Given the description of an element on the screen output the (x, y) to click on. 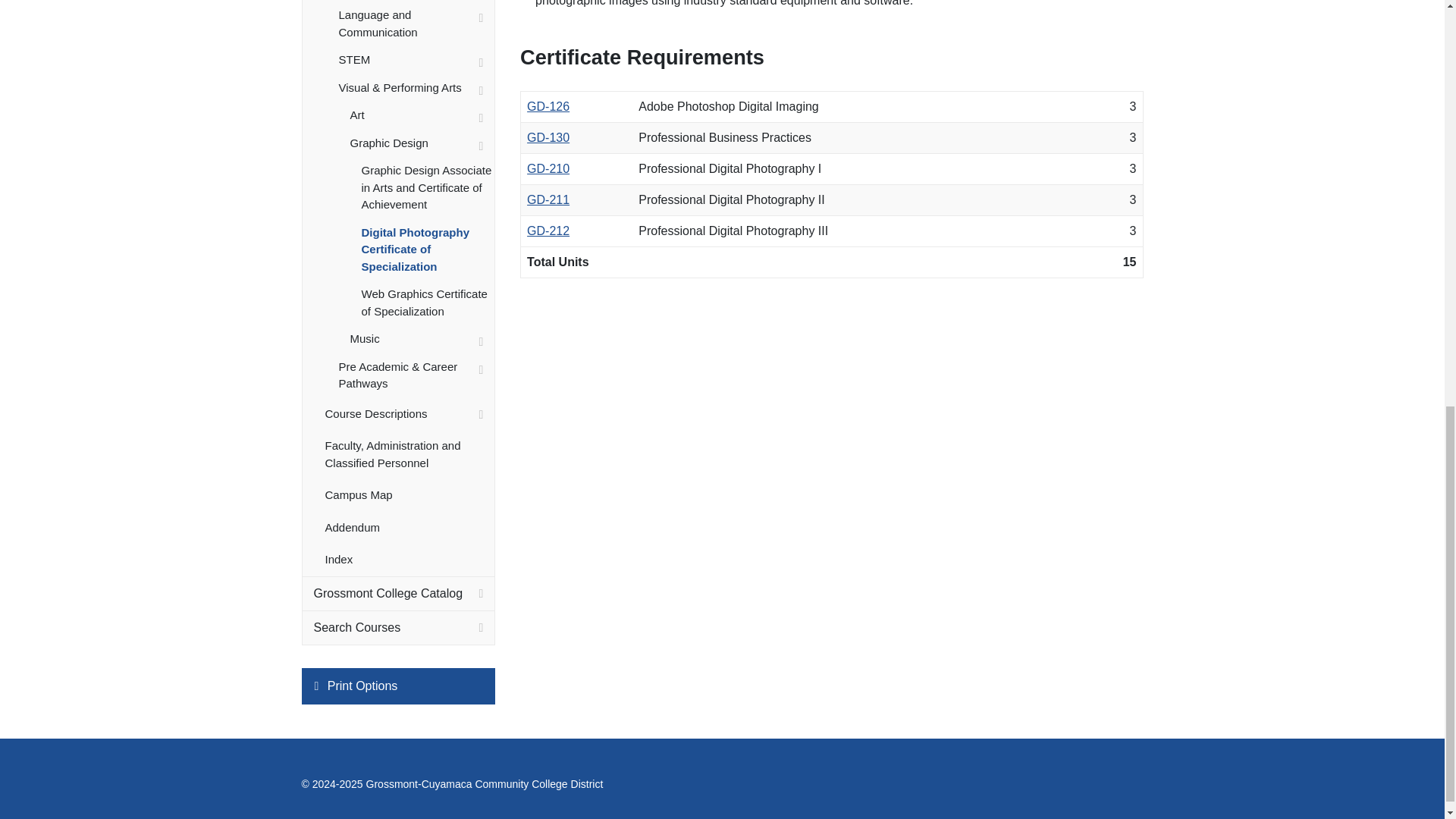
GD-126 (548, 106)
GD-210 (548, 168)
GD-212 (548, 230)
GD-130 (548, 137)
GD-211 (548, 199)
